Given the description of an element on the screen output the (x, y) to click on. 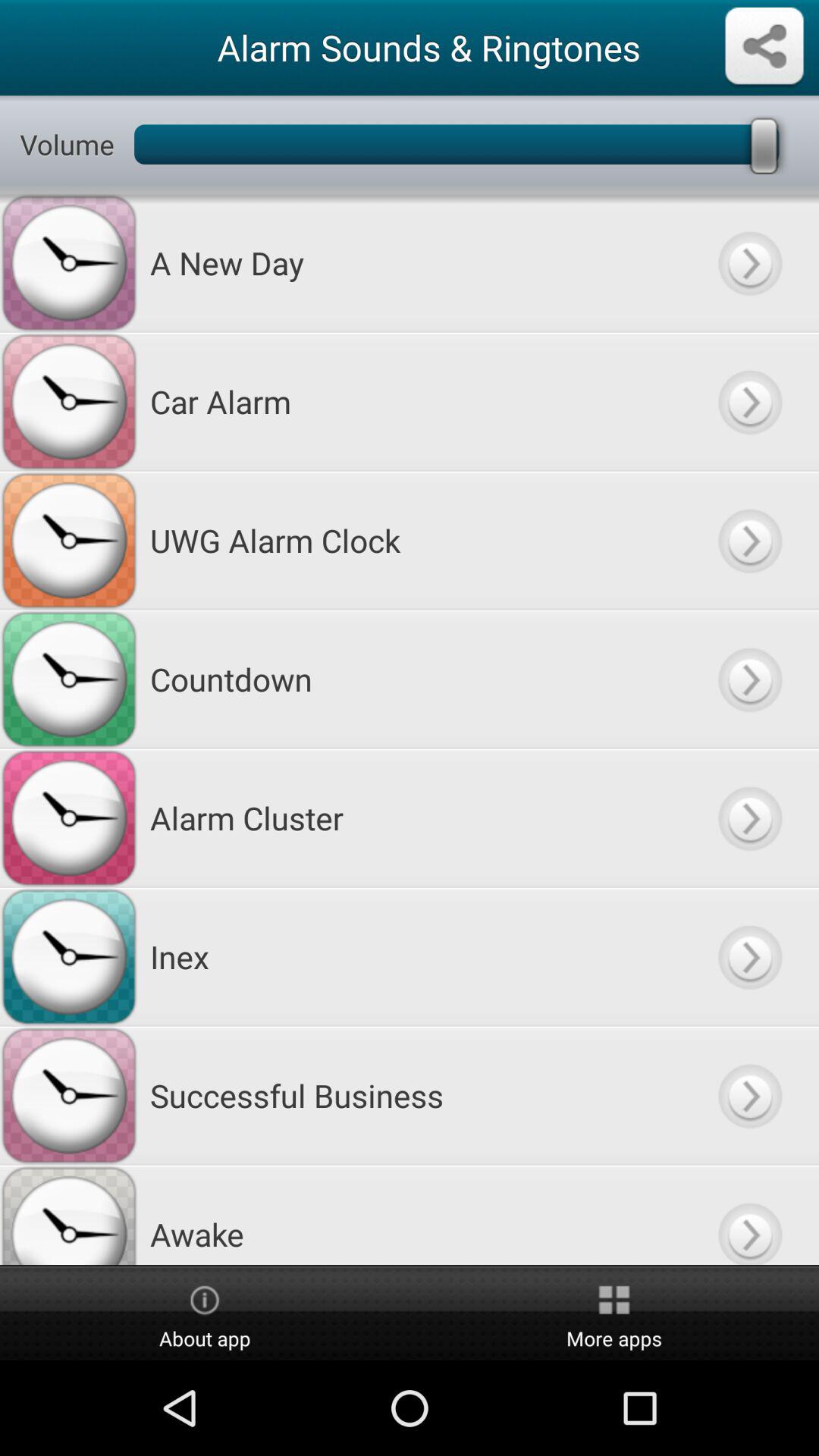
play (749, 818)
